Given the description of an element on the screen output the (x, y) to click on. 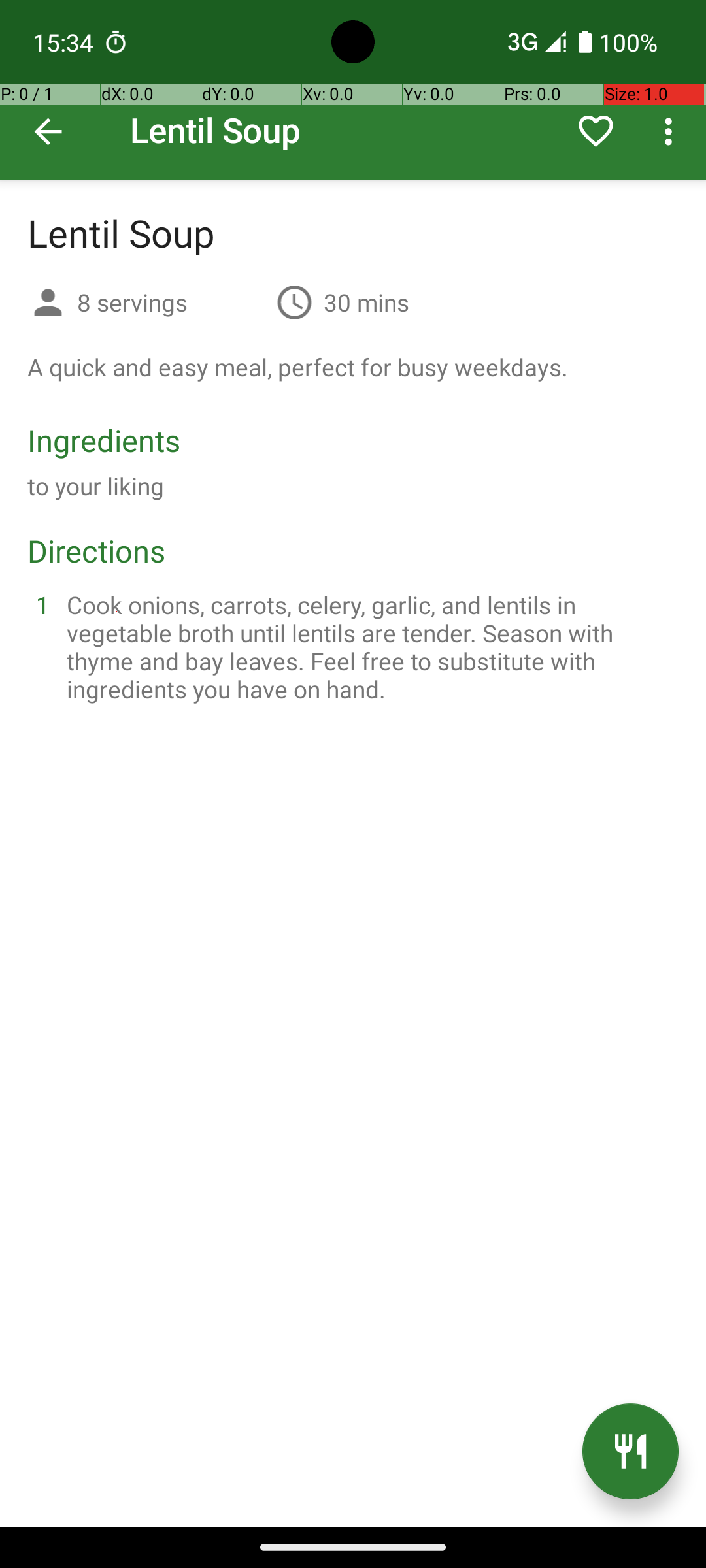
to your liking Element type: android.widget.TextView (95, 485)
Cook onions, carrots, celery, garlic, and lentils in vegetable broth until lentils are tender. Season with thyme and bay leaves. Feel free to substitute with ingredients you have on hand. Element type: android.widget.TextView (368, 646)
